Given the description of an element on the screen output the (x, y) to click on. 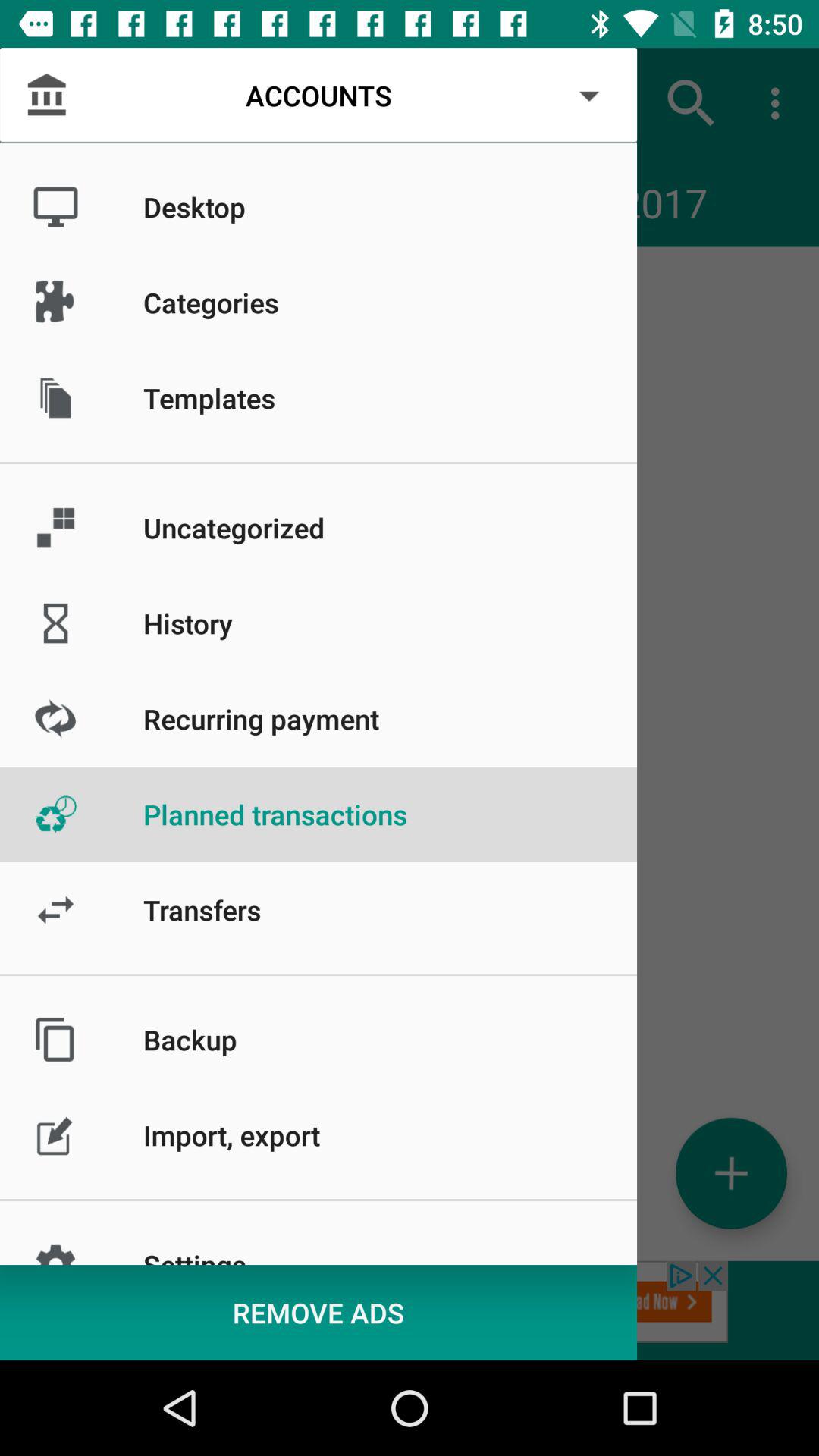
tap item to the right of accounts (691, 103)
